Given the description of an element on the screen output the (x, y) to click on. 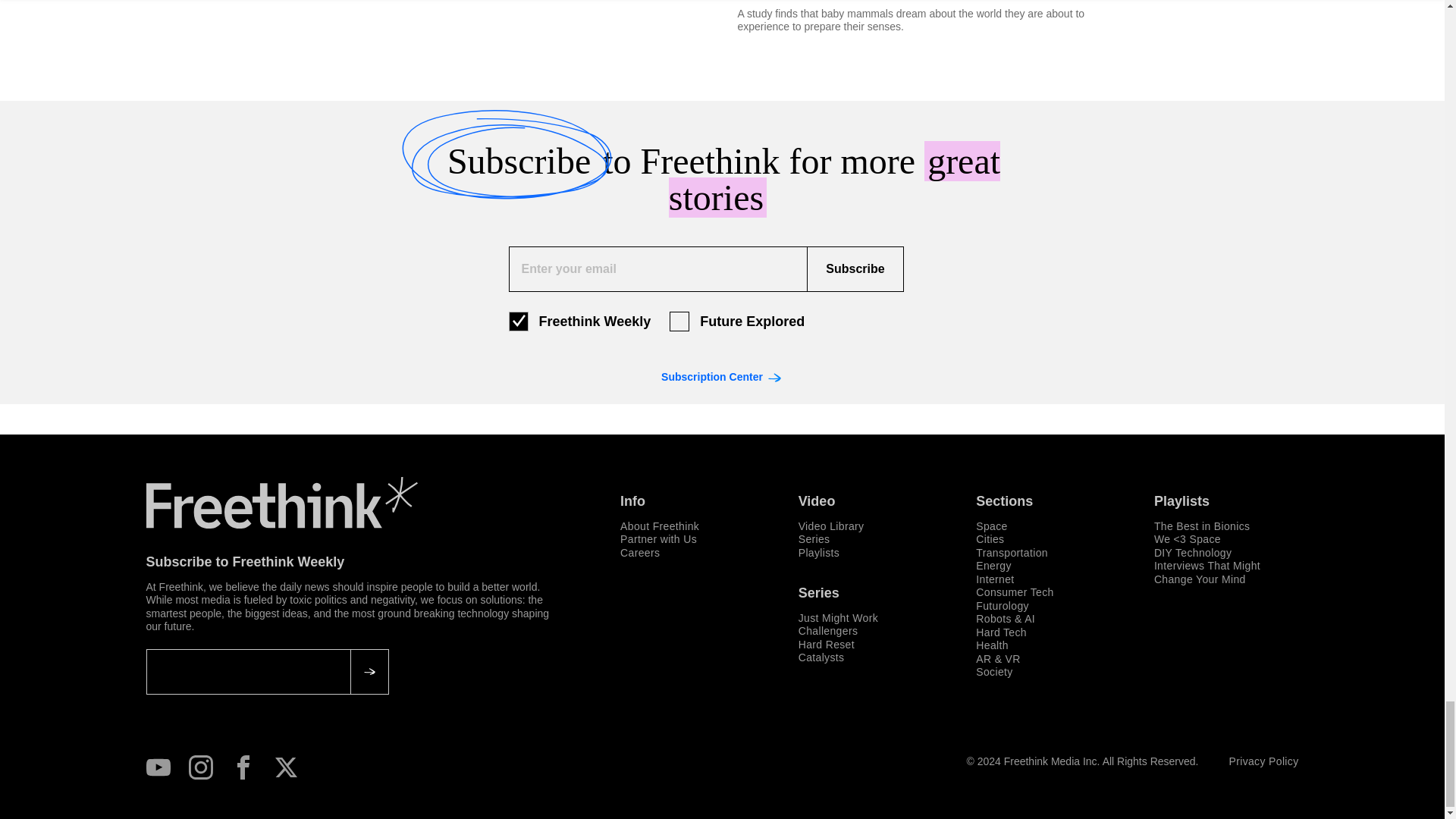
Subscribe (854, 268)
